Given the description of an element on the screen output the (x, y) to click on. 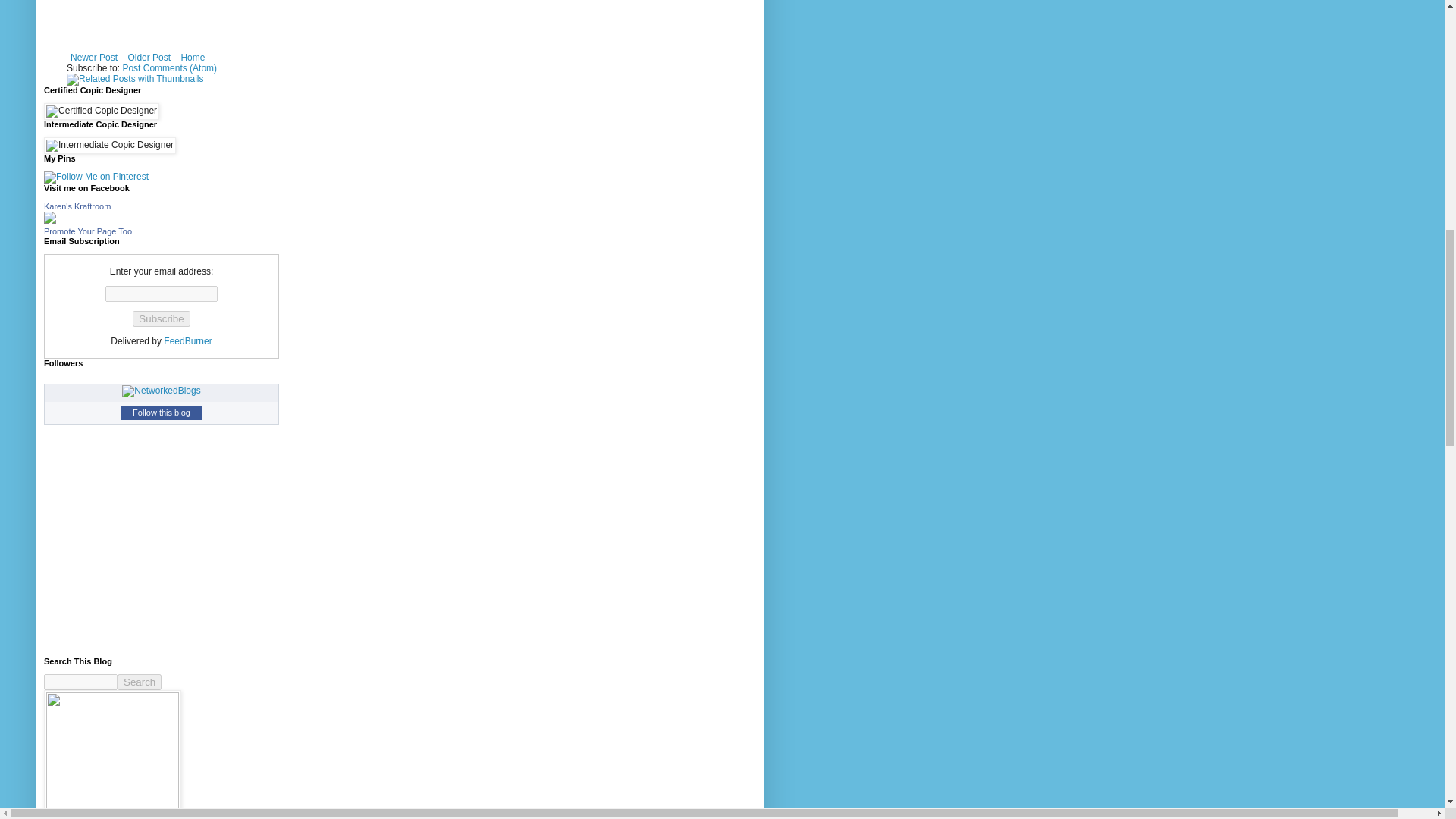
Subscribe (160, 318)
Karen's Kraftroom (76, 205)
Search (139, 682)
Newer Post (93, 57)
Older Post (148, 57)
Older Post (148, 57)
Search (139, 682)
Karen's Kraftroom (76, 205)
Search (139, 682)
NetworkedBlogs (161, 389)
Make your own badge! (87, 230)
Follow this blog (161, 412)
Karen's Kraftroom (49, 220)
Subscribe (160, 318)
Newer Post (93, 57)
